Given the description of an element on the screen output the (x, y) to click on. 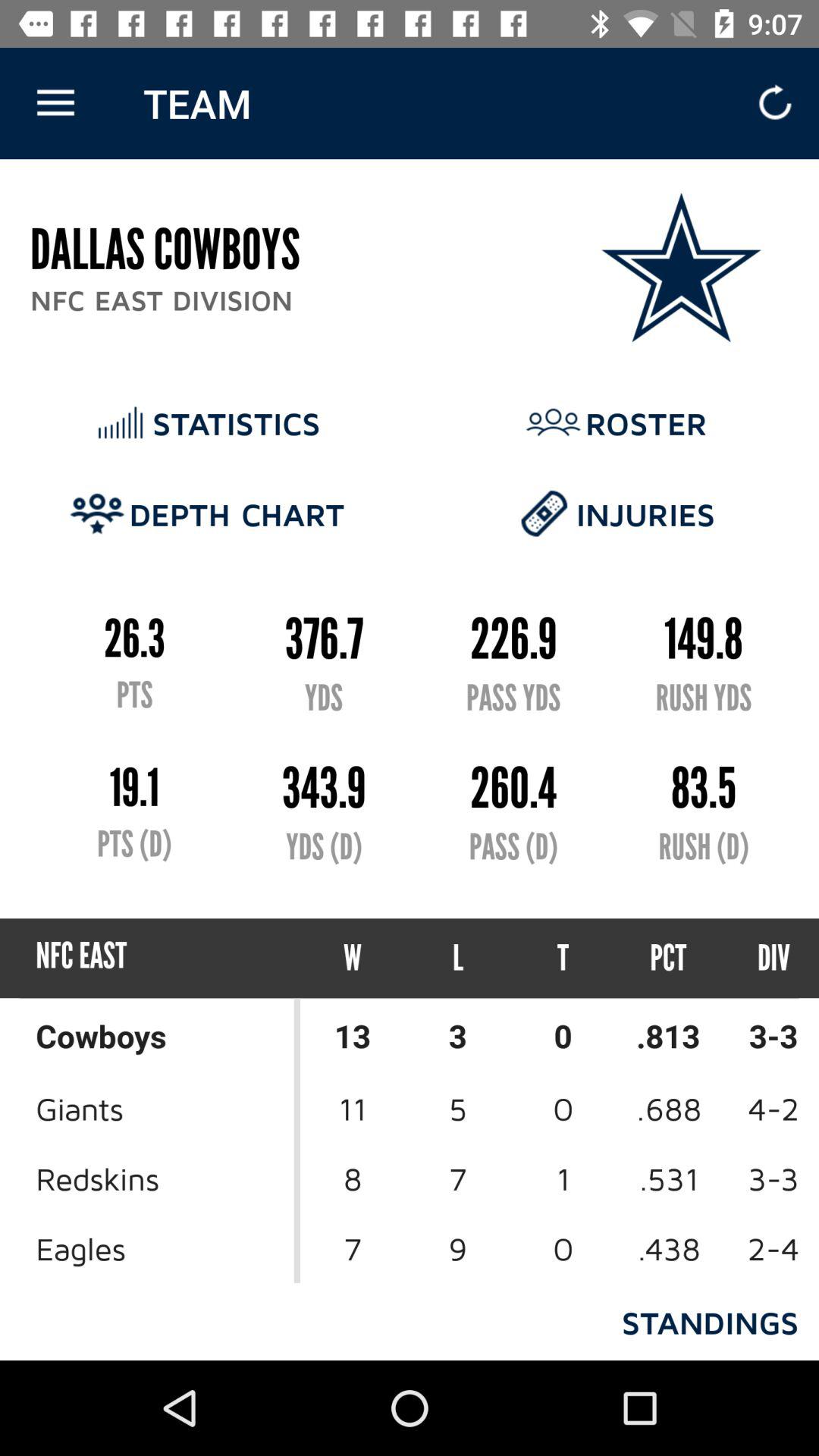
select the icon next to l (352, 958)
